Given the description of an element on the screen output the (x, y) to click on. 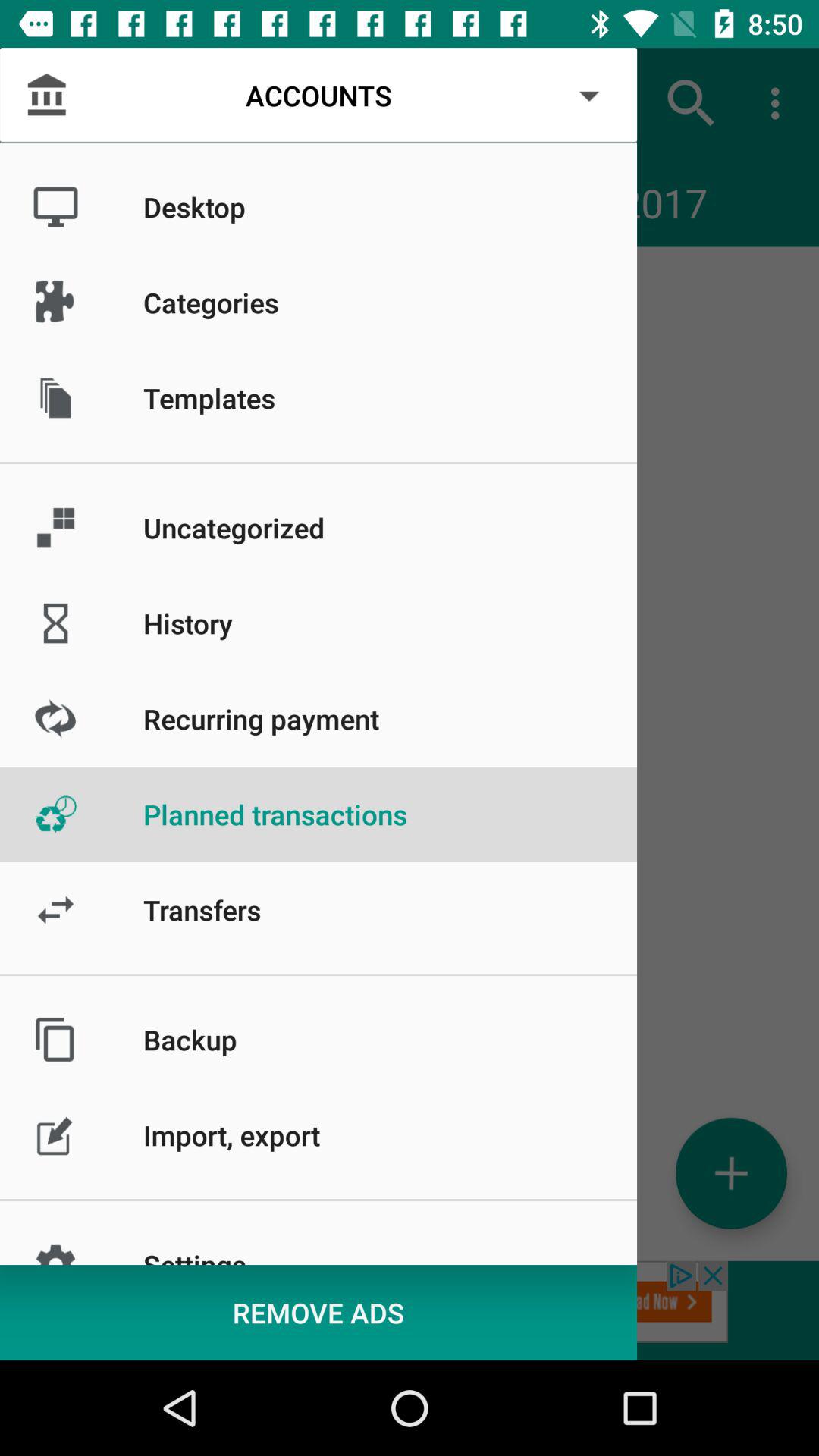
add account (731, 1173)
